Given the description of an element on the screen output the (x, y) to click on. 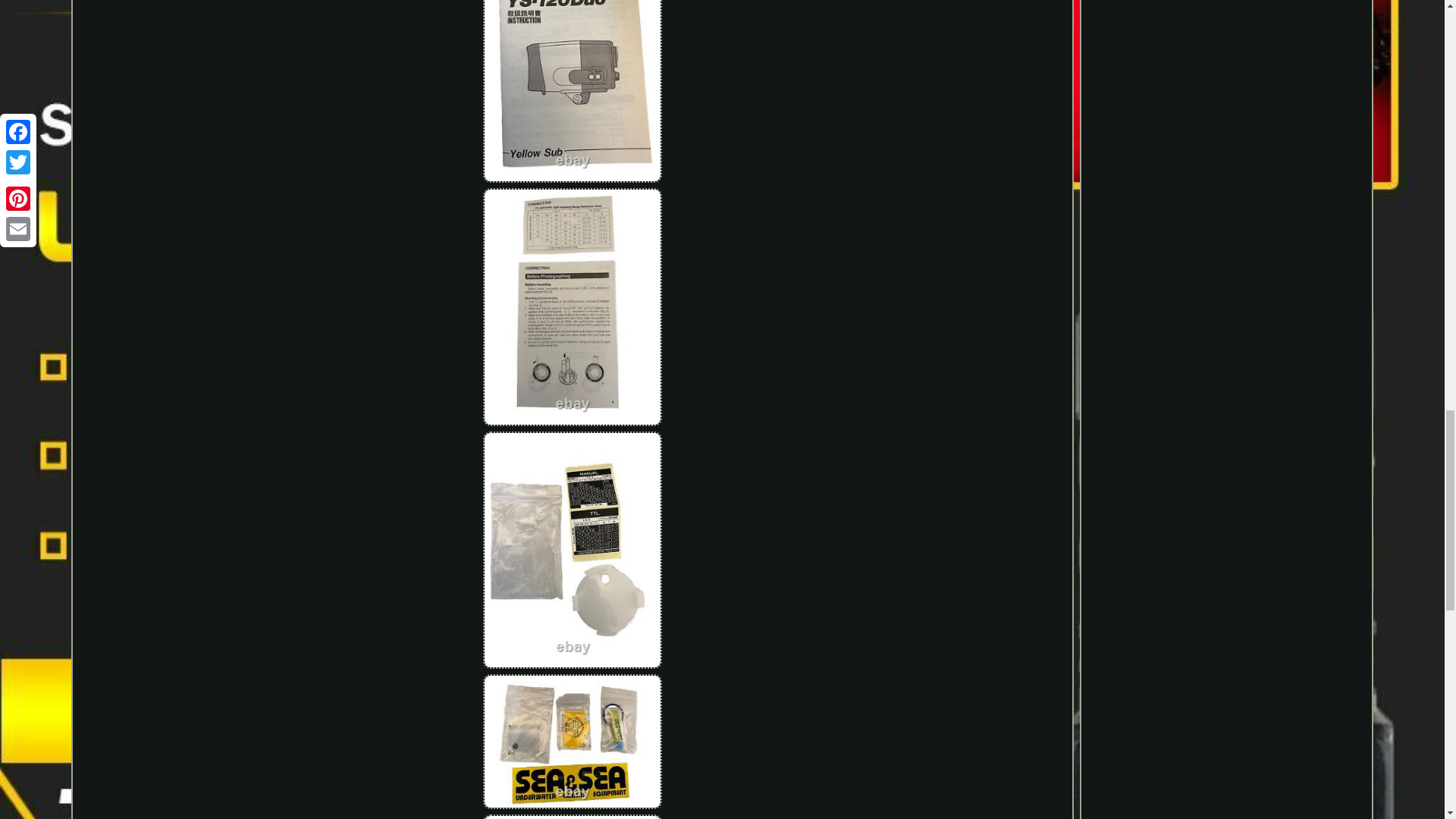
Sea And Sea Underwater Ttl Strobe Ys-120 Duo Yellow Unused (571, 93)
